Given the description of an element on the screen output the (x, y) to click on. 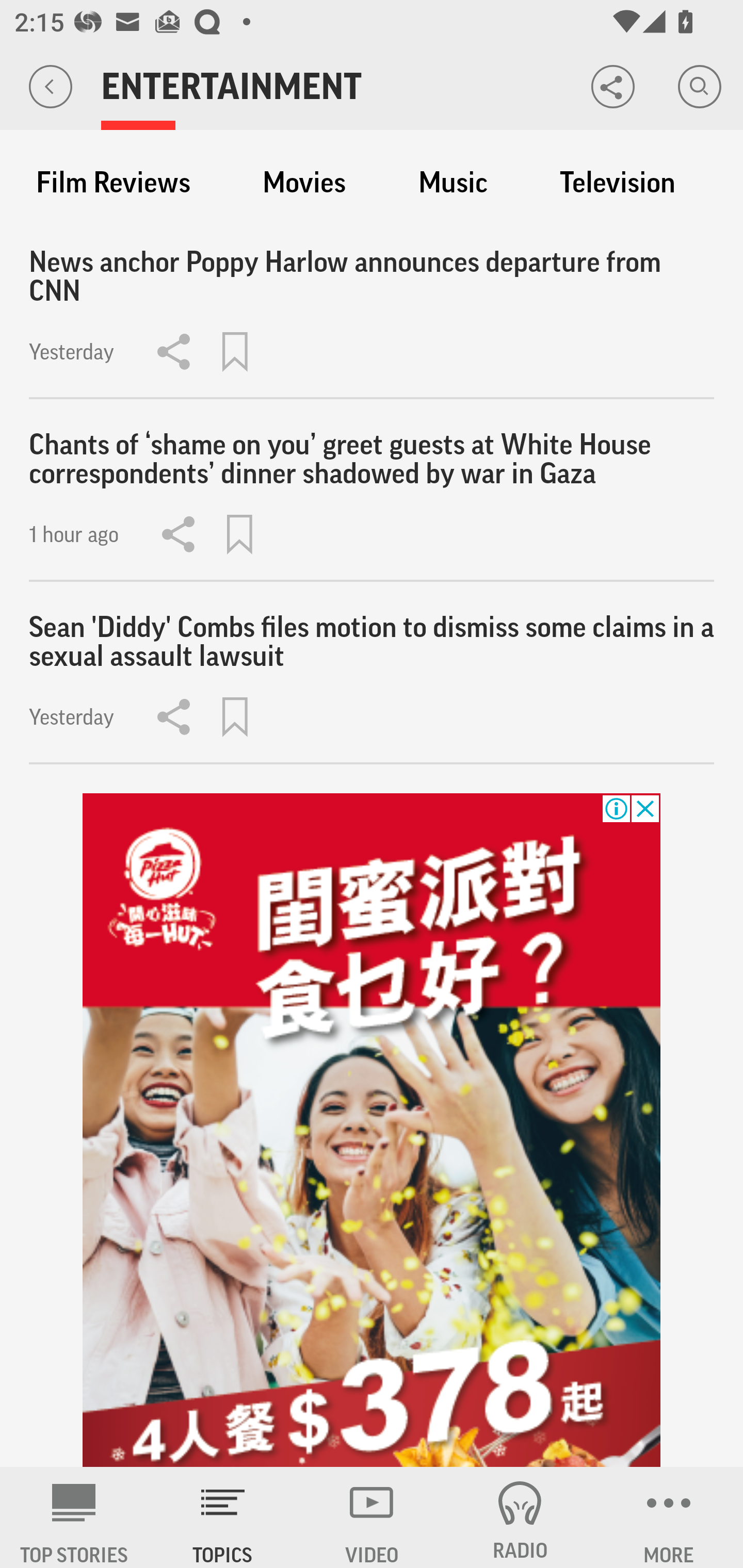
Film Reviews (112, 182)
Movies (304, 182)
Music (452, 182)
Television (617, 182)
Advertisement (371, 1130)
AP News TOP STORIES (74, 1517)
TOPICS (222, 1517)
VIDEO (371, 1517)
RADIO (519, 1517)
MORE (668, 1517)
